Given the description of an element on the screen output the (x, y) to click on. 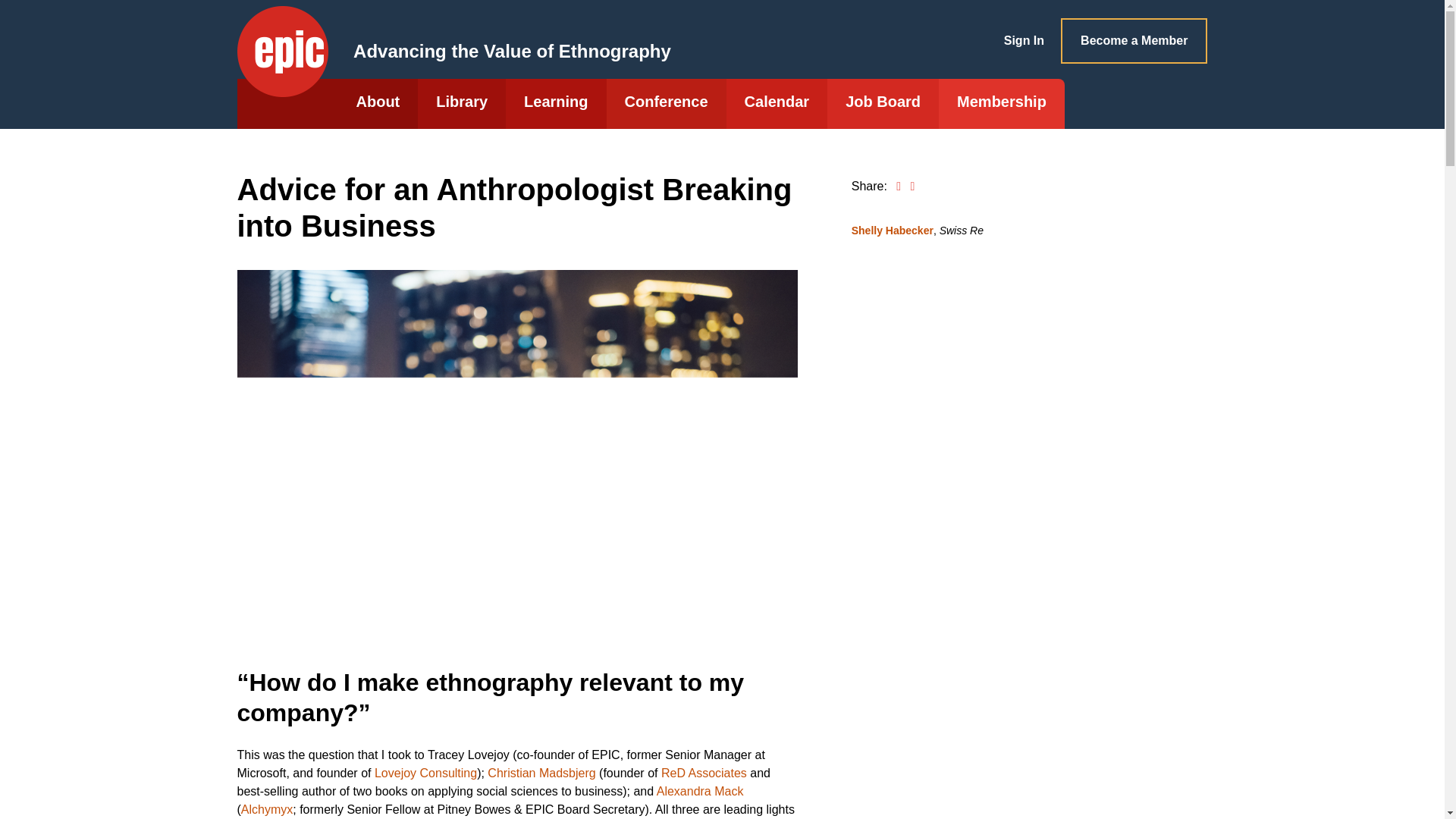
Become a Member (1134, 40)
Sign In (1023, 47)
About (378, 103)
epic-circle 1 (281, 51)
